Given the description of an element on the screen output the (x, y) to click on. 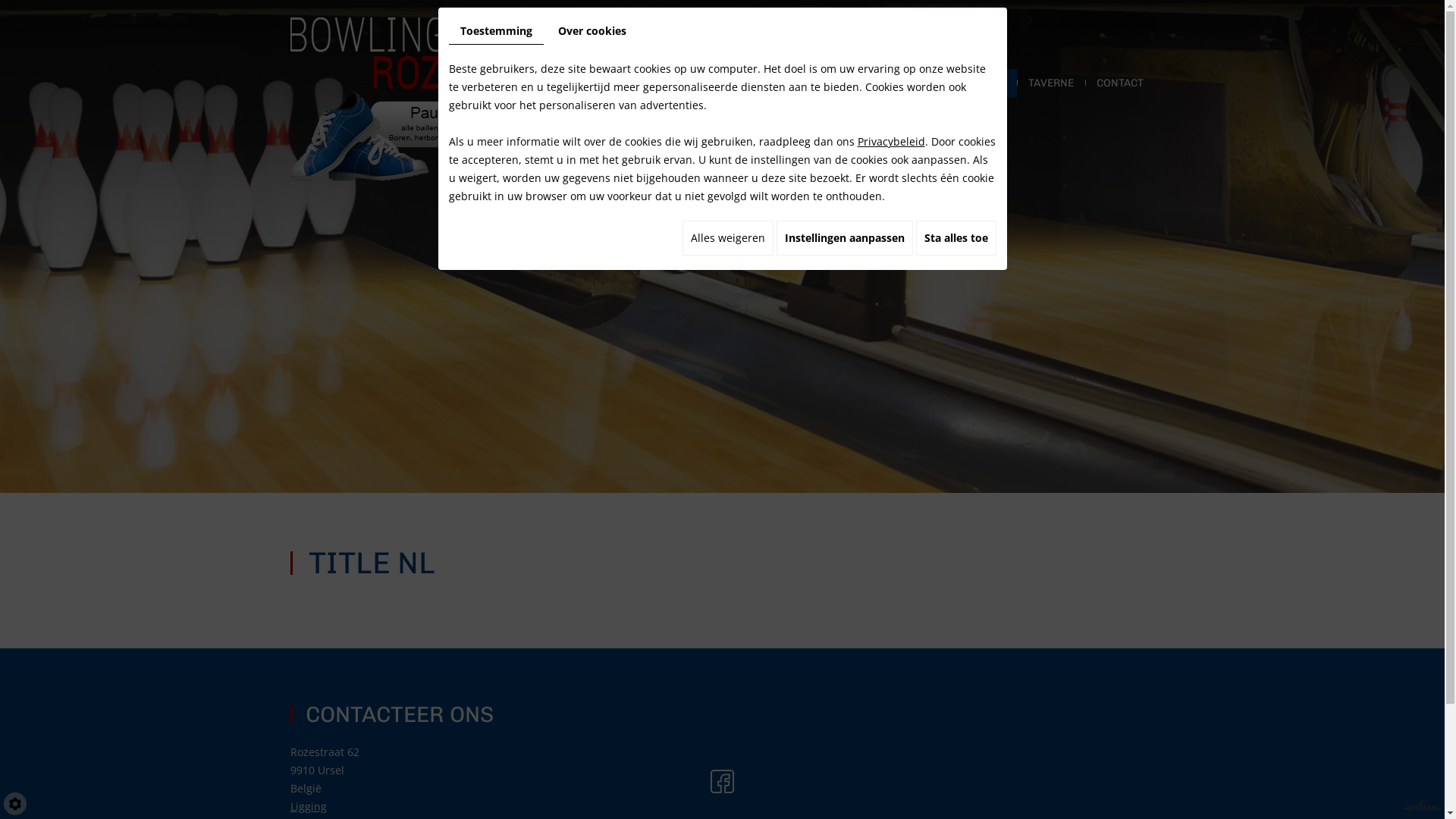
TARIEVEN Element type: text (757, 83)
Cookie-instelling bewerken Element type: text (14, 803)
Over cookies Element type: text (591, 30)
HOME Element type: text (622, 83)
BOWLING Element type: text (685, 83)
Sta alles toe Element type: text (956, 237)
Toestemming Element type: text (495, 31)
Bowling Rozenhof bvba - Bowlingzaal Element type: hover (425, 98)
Alles weigeren Element type: text (727, 237)
Privacybeleid Element type: text (890, 141)
Facebook Element type: hover (722, 781)
TAVERNE Element type: text (1050, 83)
Instellingen aanpassen Element type: text (844, 237)
CONTACT Element type: text (1119, 83)
KINDERFEESTJES Element type: text (961, 83)
